Given the description of an element on the screen output the (x, y) to click on. 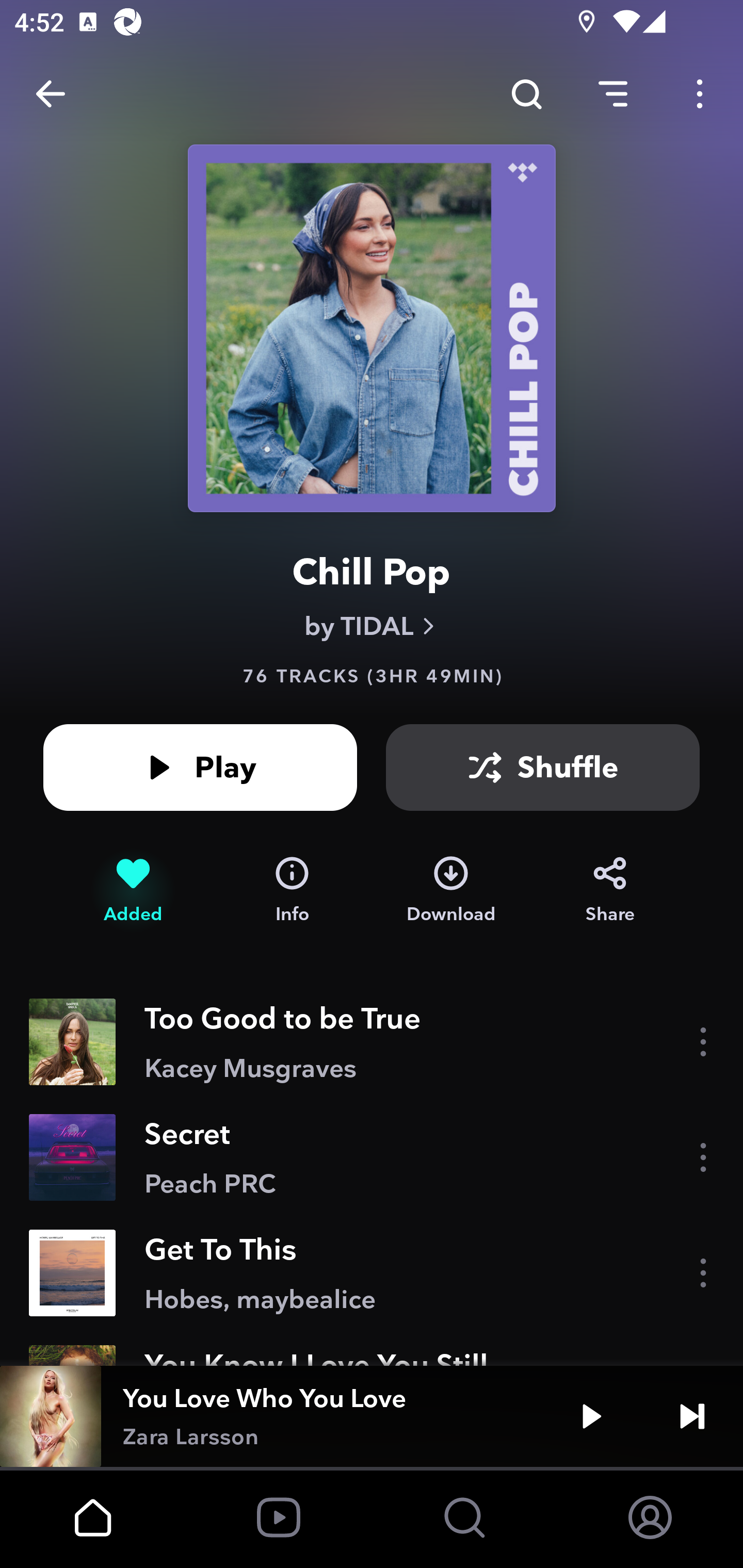
Back (50, 93)
Search (525, 93)
Sorting (612, 93)
Options (699, 93)
by TIDAL (371, 625)
Play (200, 767)
Shuffle (542, 767)
Added (132, 890)
Info (291, 890)
Download (450, 890)
Share (609, 890)
Too Good to be True Kacey Musgraves (371, 1041)
Secret Peach PRC (371, 1157)
Get To This Hobes, maybealice (371, 1273)
You Love Who You Love Zara Larsson Play (371, 1416)
Play (590, 1416)
